Given the description of an element on the screen output the (x, y) to click on. 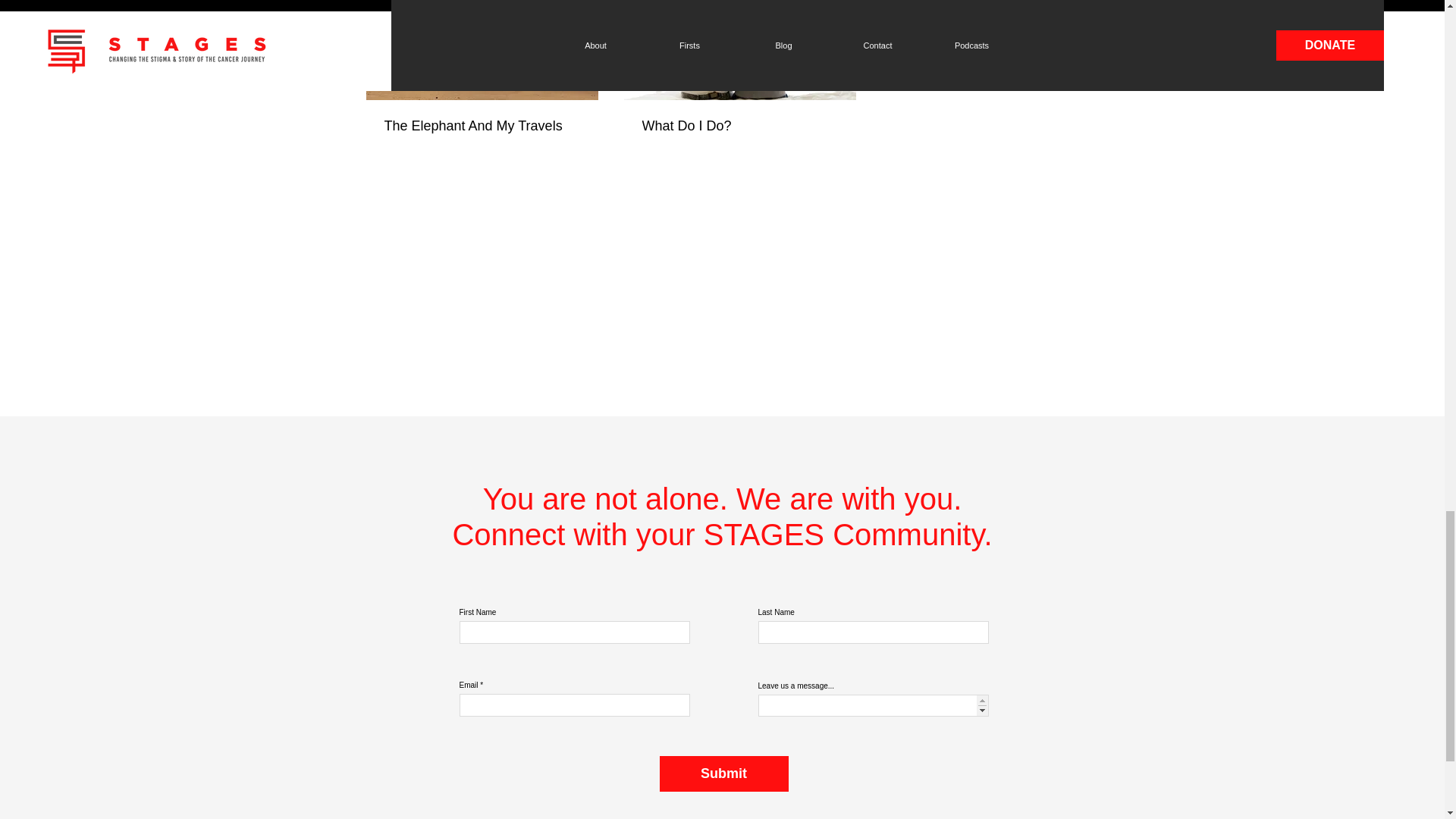
Submit (724, 773)
The Elephant And My Travels (481, 125)
What Do I Do? (739, 125)
